Given the description of an element on the screen output the (x, y) to click on. 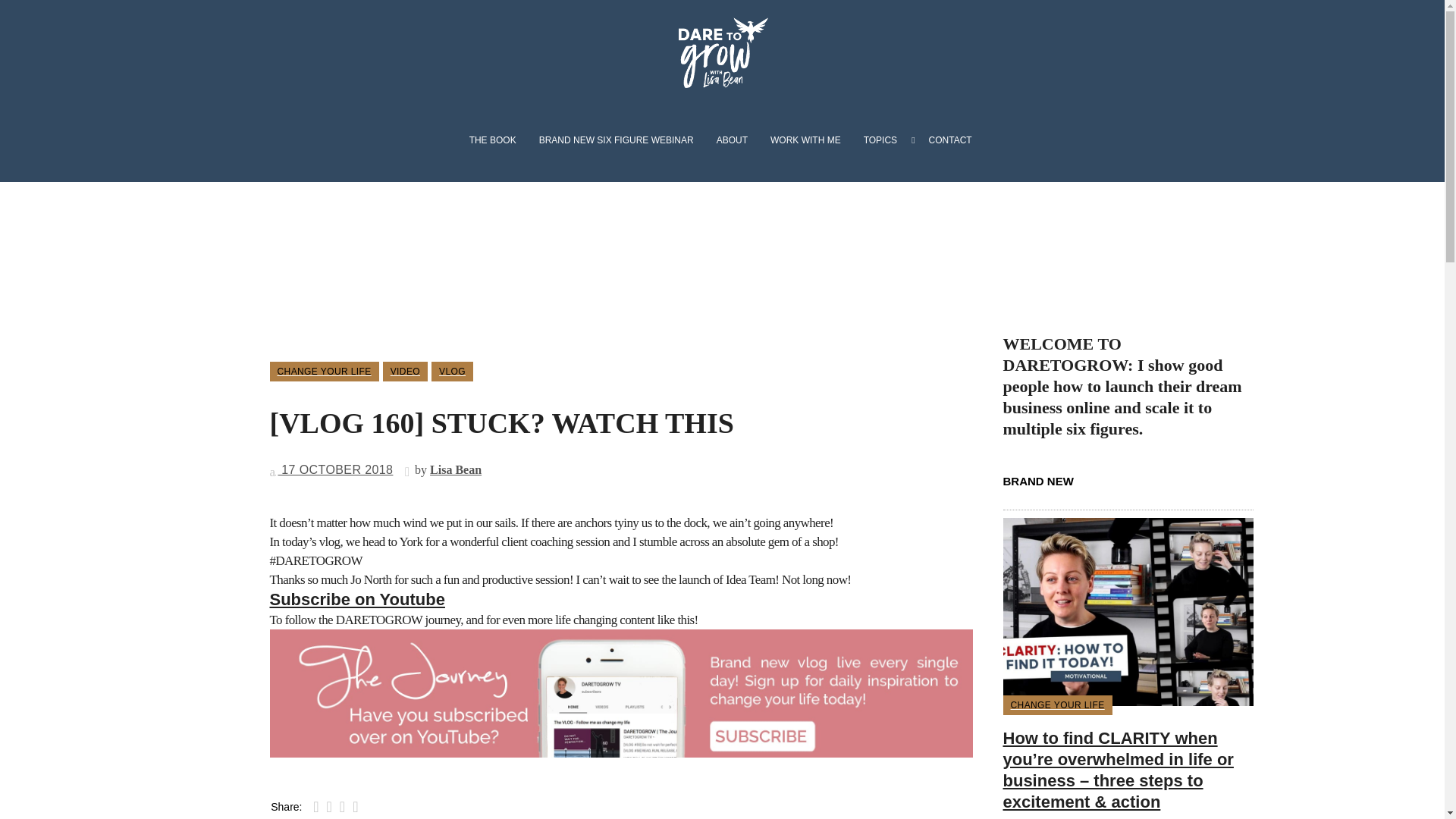
WORK WITH ME (804, 139)
CONTACT (946, 139)
BRAND NEW SIX FIGURE WEBINAR (615, 139)
